Given the description of an element on the screen output the (x, y) to click on. 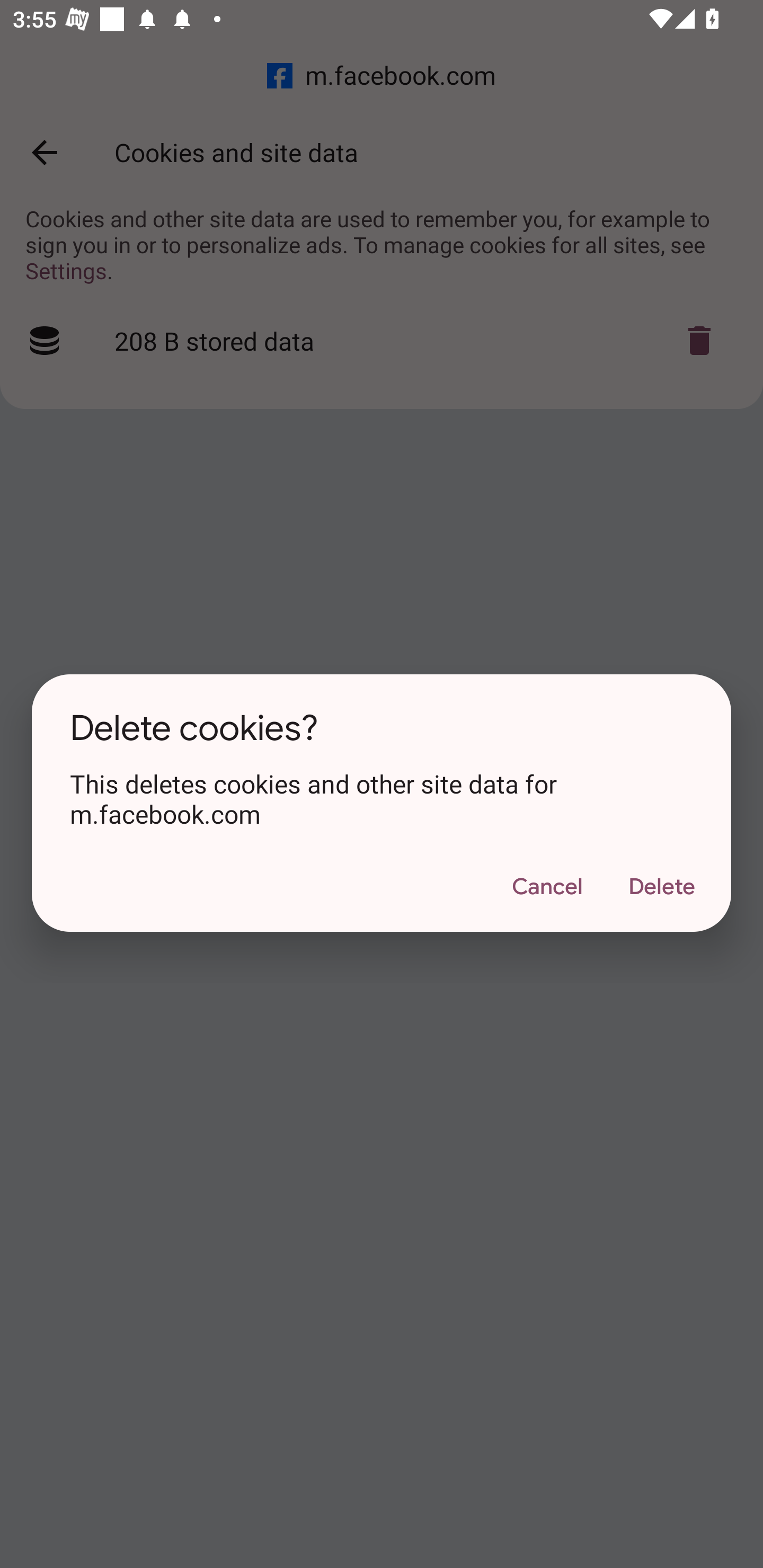
Cancel (546, 887)
Delete (660, 887)
